Given the description of an element on the screen output the (x, y) to click on. 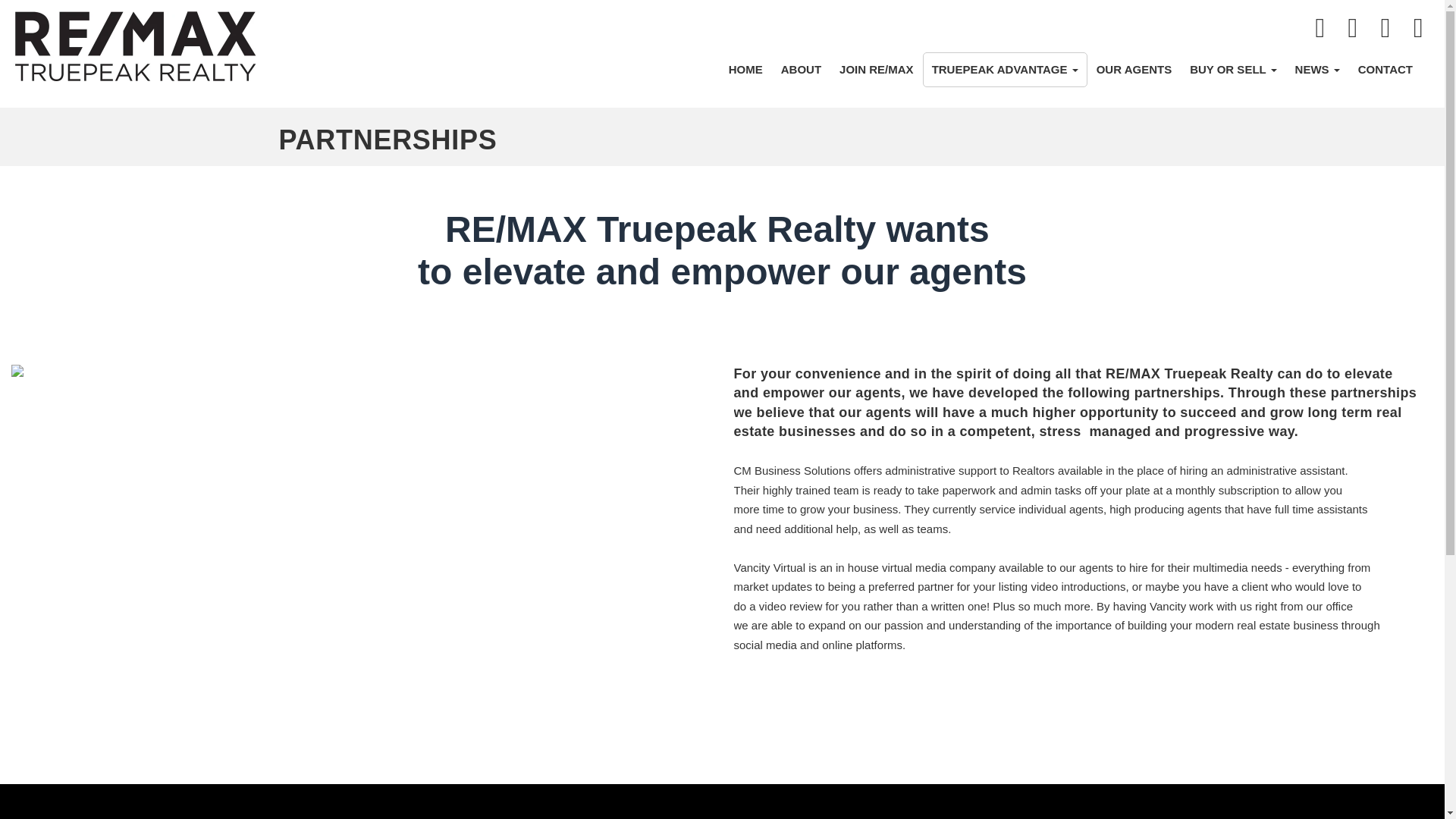
TRUEPEAK ADVANTAGE (1005, 69)
OUR AGENTS (1133, 69)
NEWS (1317, 69)
Instagram (1354, 28)
HOME (745, 69)
BUY OR SELL (1232, 69)
ABOUT (800, 69)
Facebook (1321, 28)
CONTACT (1385, 69)
YouTube (1417, 28)
